Given the description of an element on the screen output the (x, y) to click on. 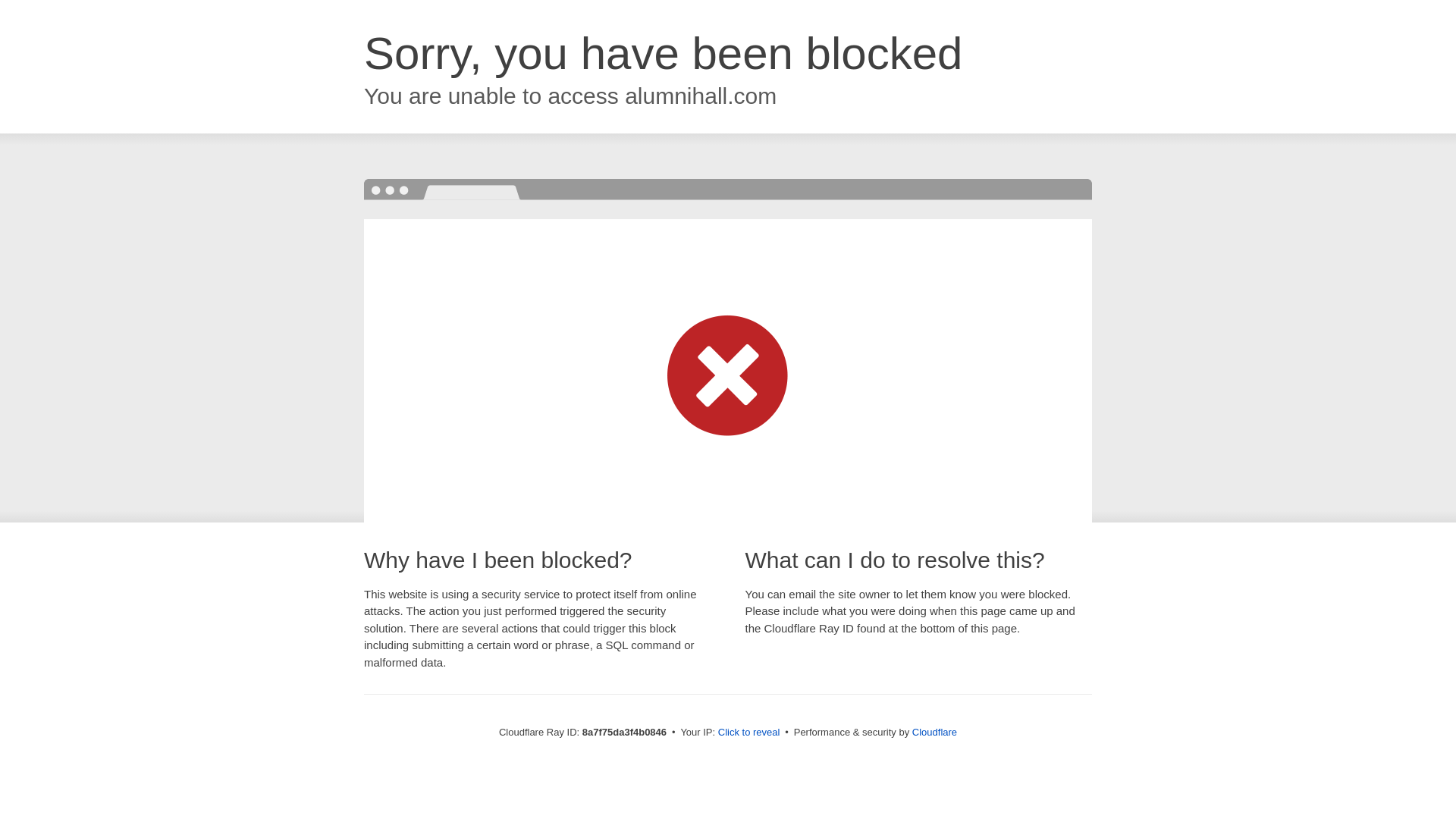
Click to reveal (748, 732)
Cloudflare (934, 731)
